Given the description of an element on the screen output the (x, y) to click on. 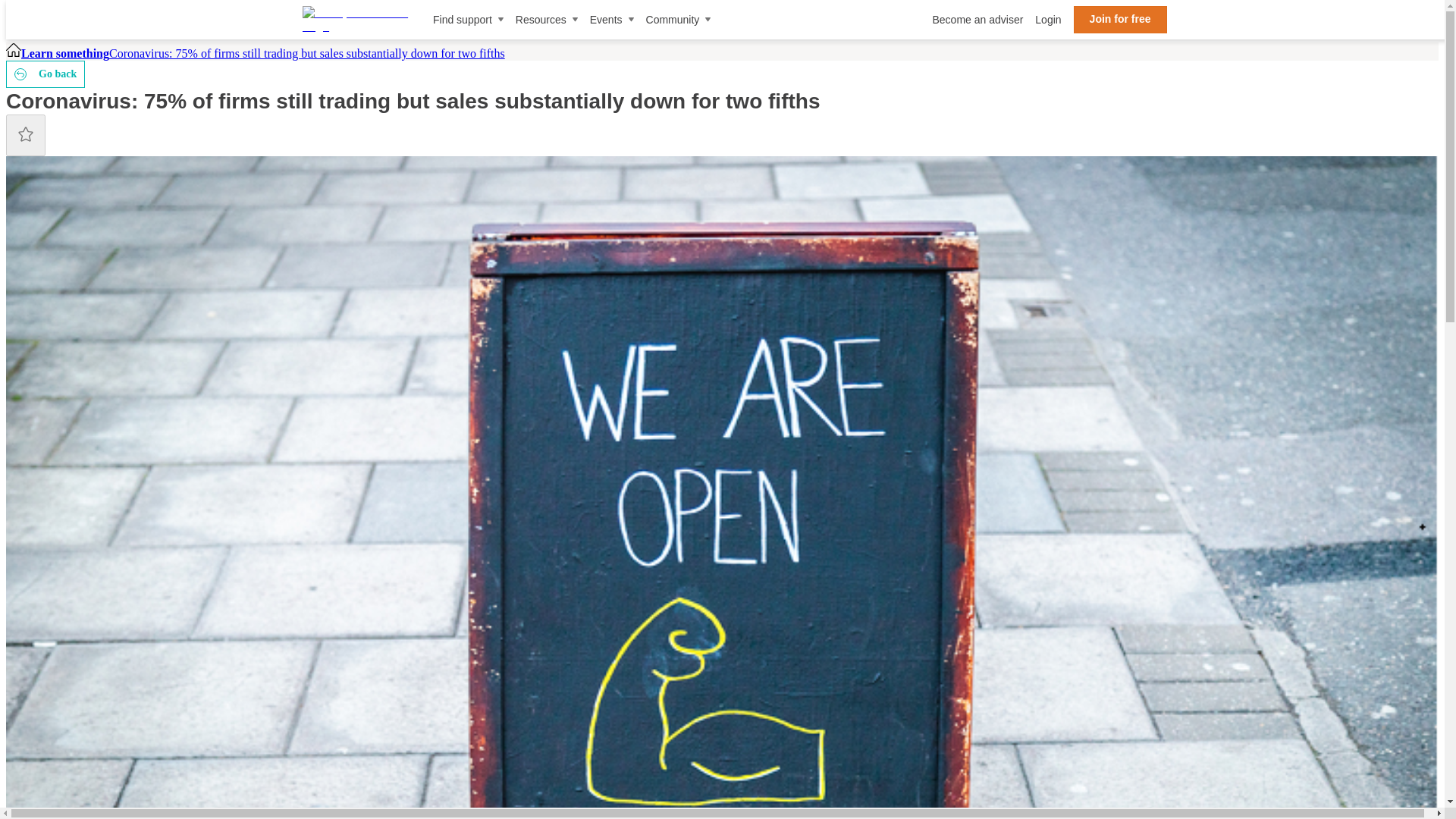
Learn something (65, 52)
Find support (467, 19)
Login (1048, 19)
Join for free (1120, 19)
Learn something (65, 52)
Community (678, 19)
Go back (44, 73)
Become an adviser (977, 19)
Home (13, 52)
Resources (546, 19)
Events (611, 19)
